Given the description of an element on the screen output the (x, y) to click on. 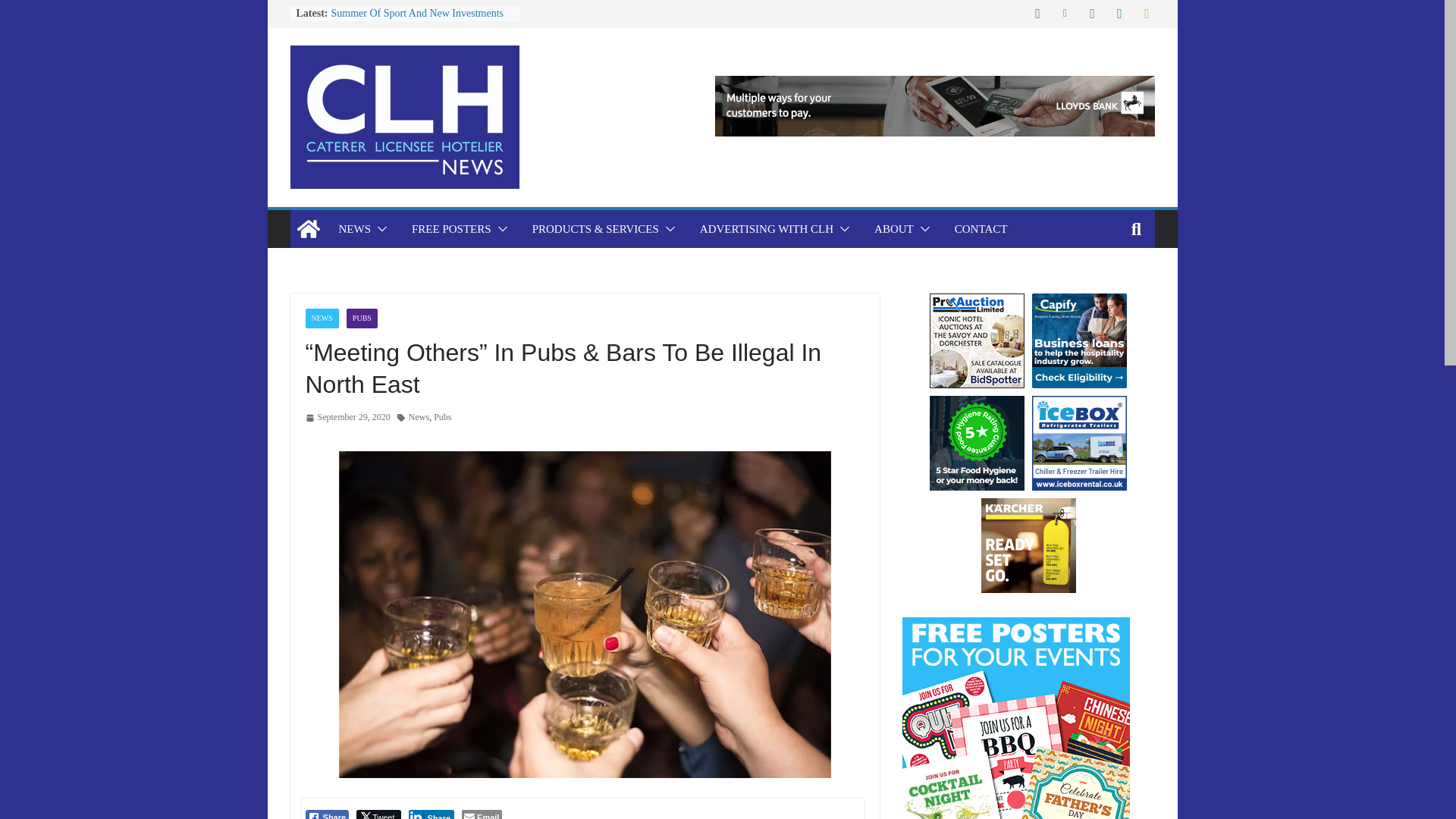
CLH News: Caterer, Licensee and Hotelier News (307, 228)
1:33 pm (347, 417)
NEWS (354, 228)
FREE POSTERS (452, 228)
